Given the description of an element on the screen output the (x, y) to click on. 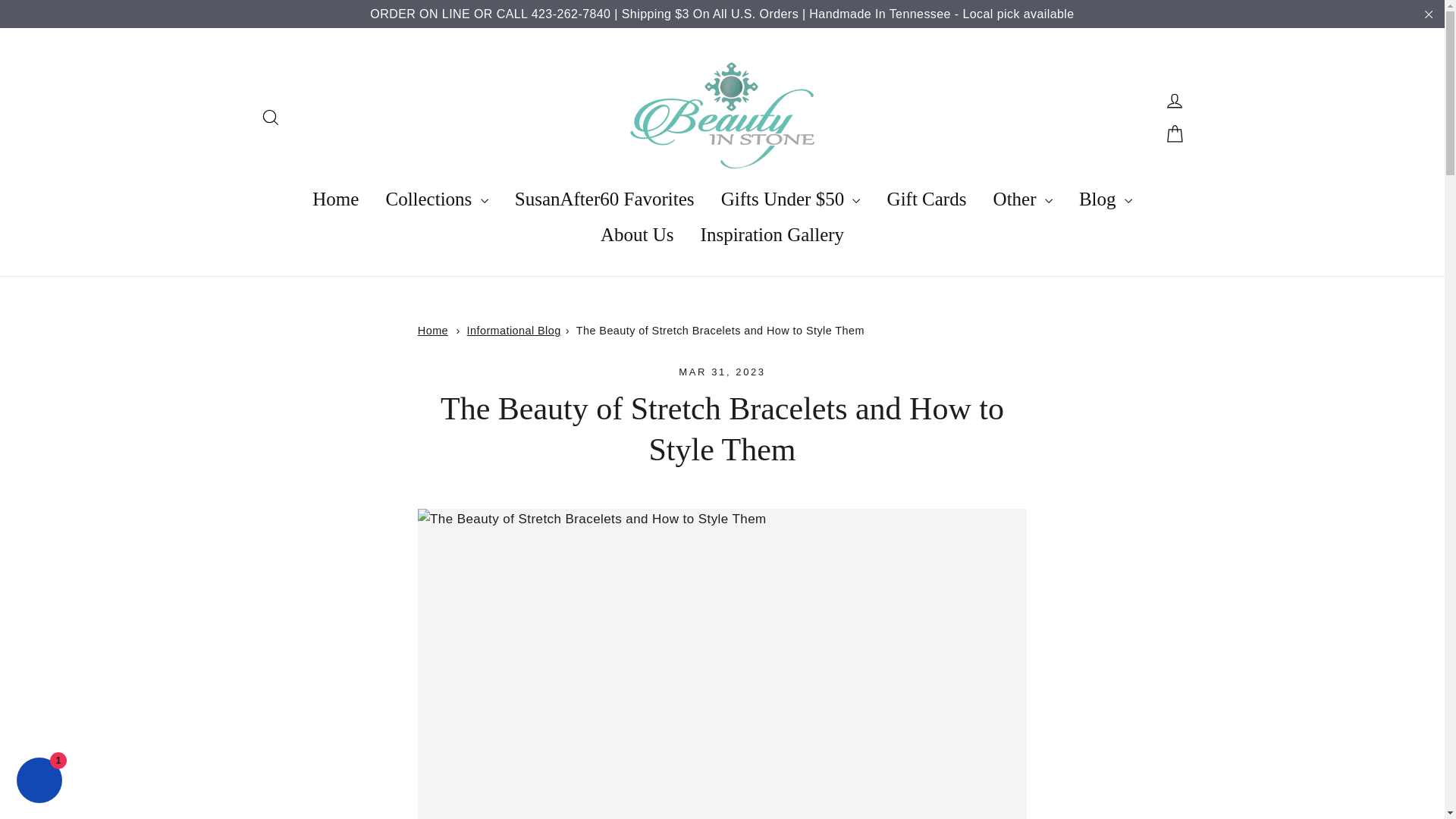
Home (432, 330)
